Given the description of an element on the screen output the (x, y) to click on. 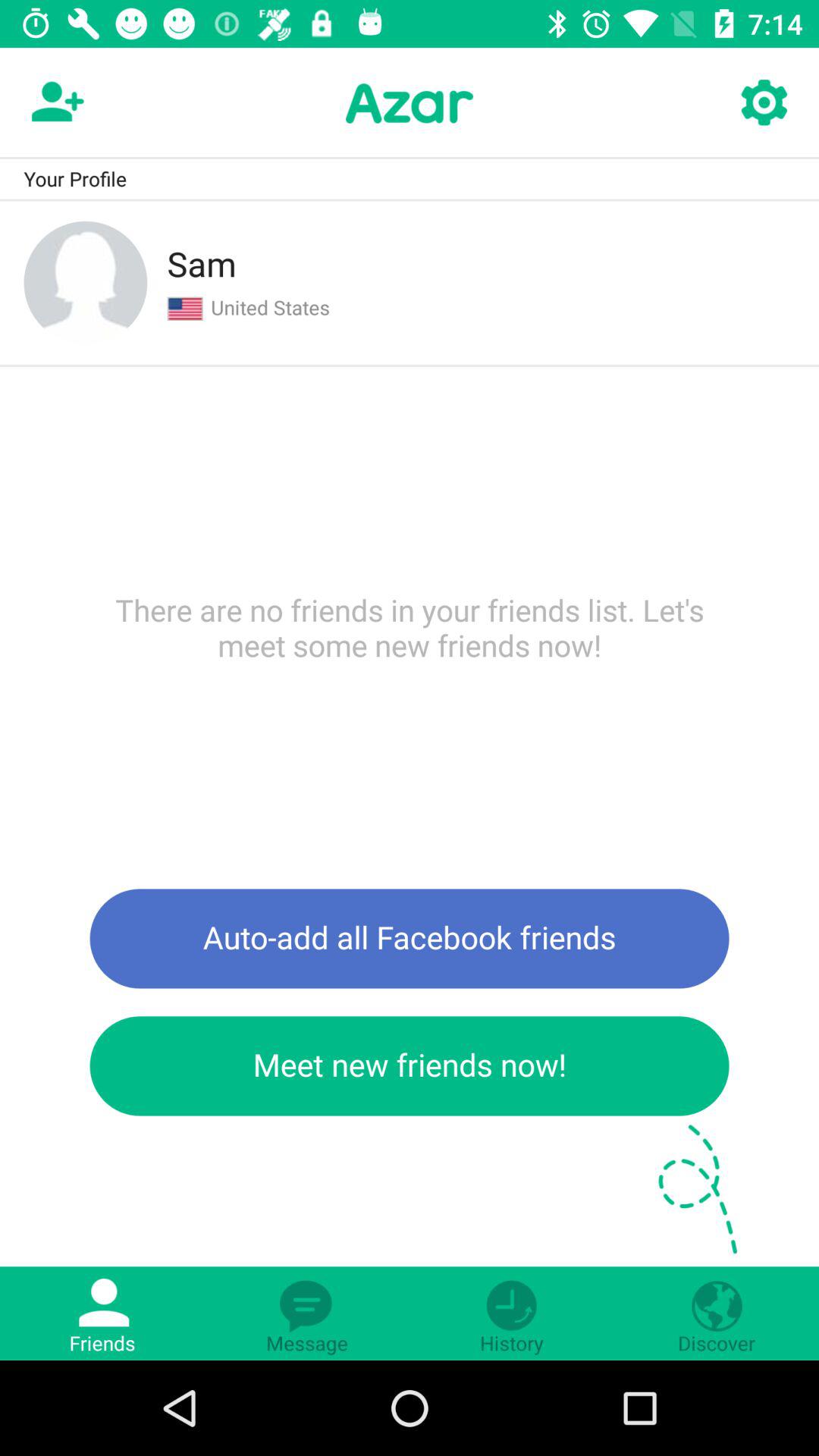
scroll to auto add all icon (409, 938)
